Given the description of an element on the screen output the (x, y) to click on. 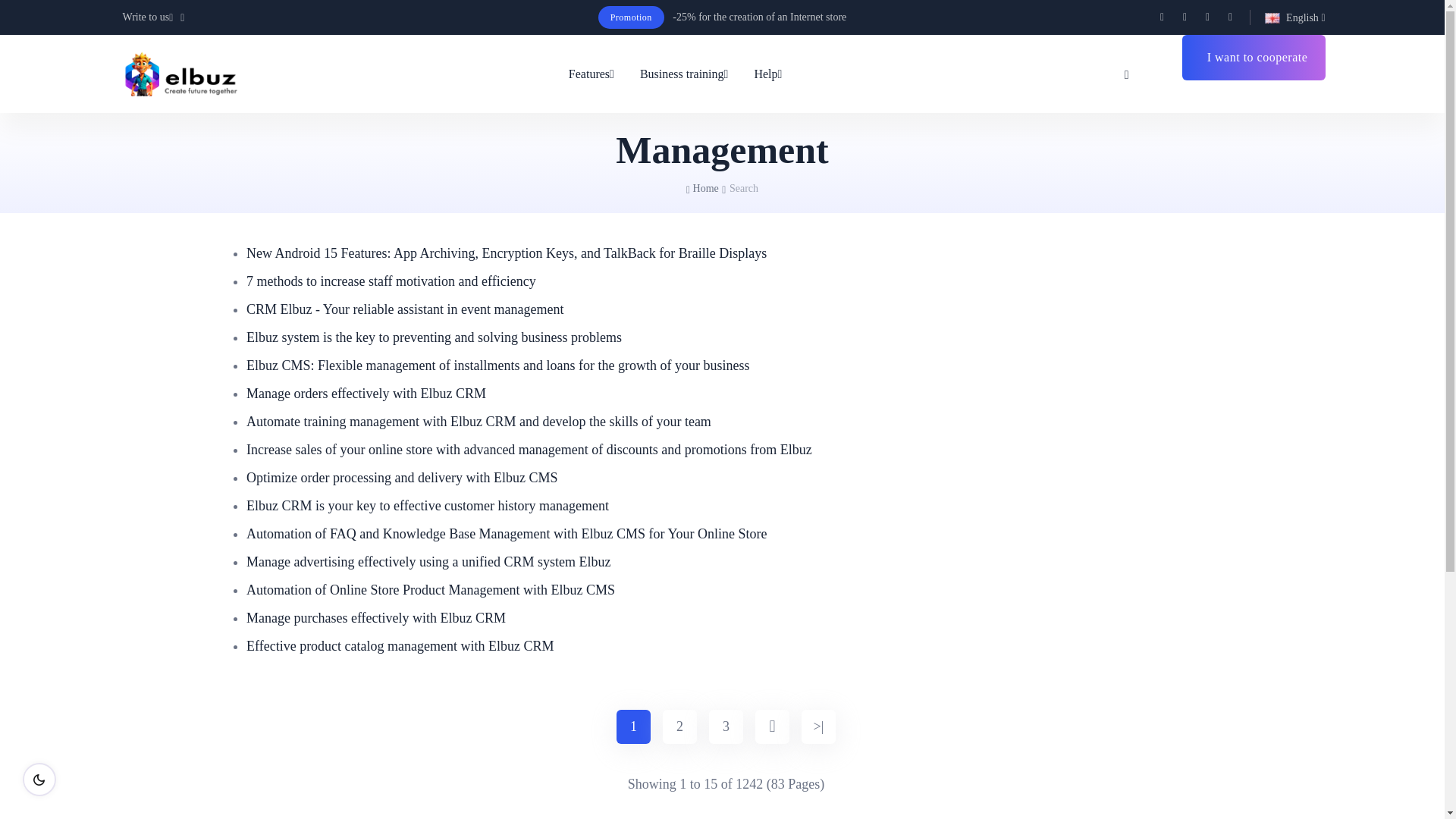
Search (1126, 73)
Dark Mode (39, 779)
Write to us (155, 17)
Features (598, 74)
English (1294, 17)
Business training (684, 74)
